Given the description of an element on the screen output the (x, y) to click on. 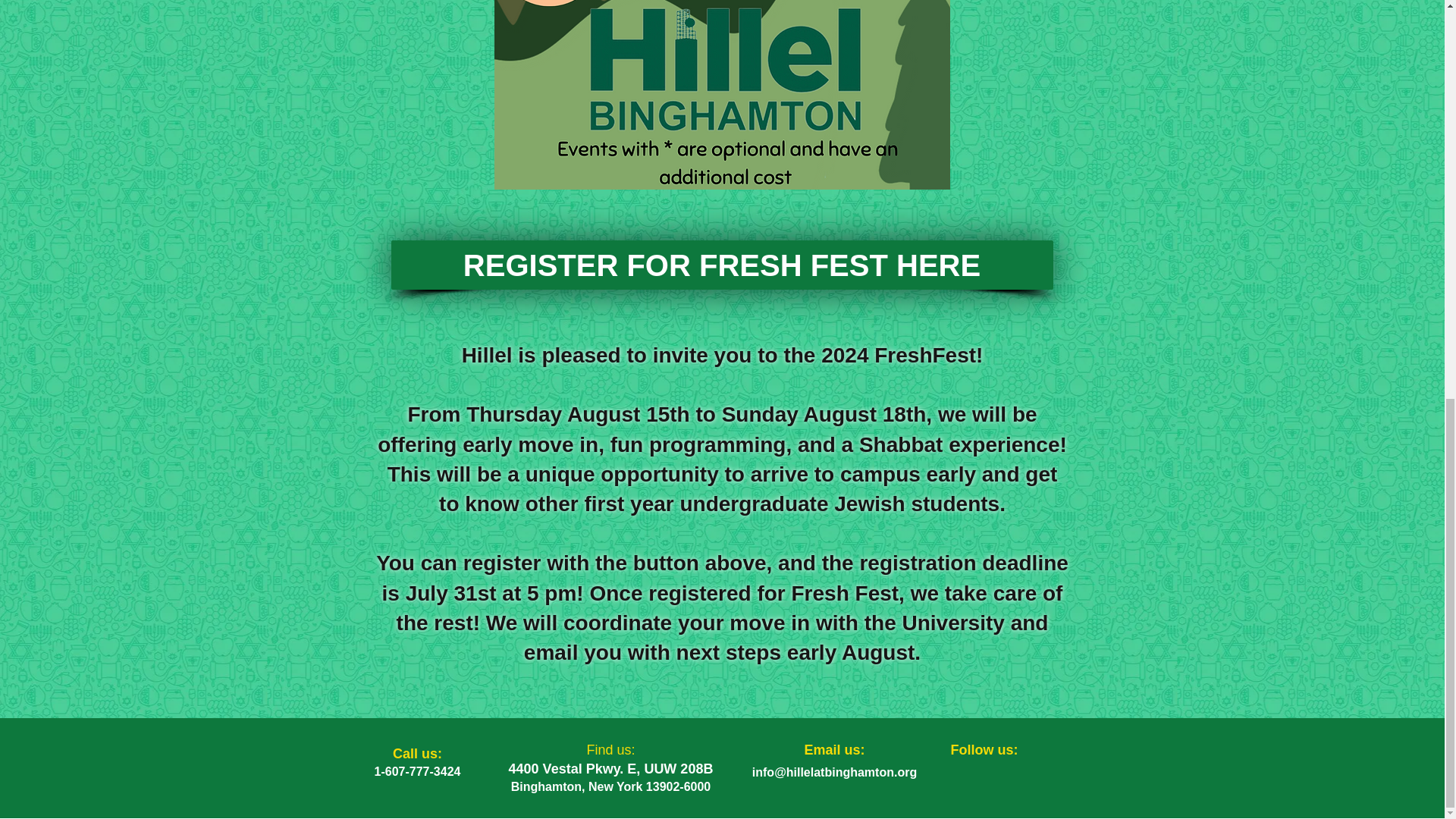
REGISTER FOR FRESH FEST HERE (721, 264)
